Given the description of an element on the screen output the (x, y) to click on. 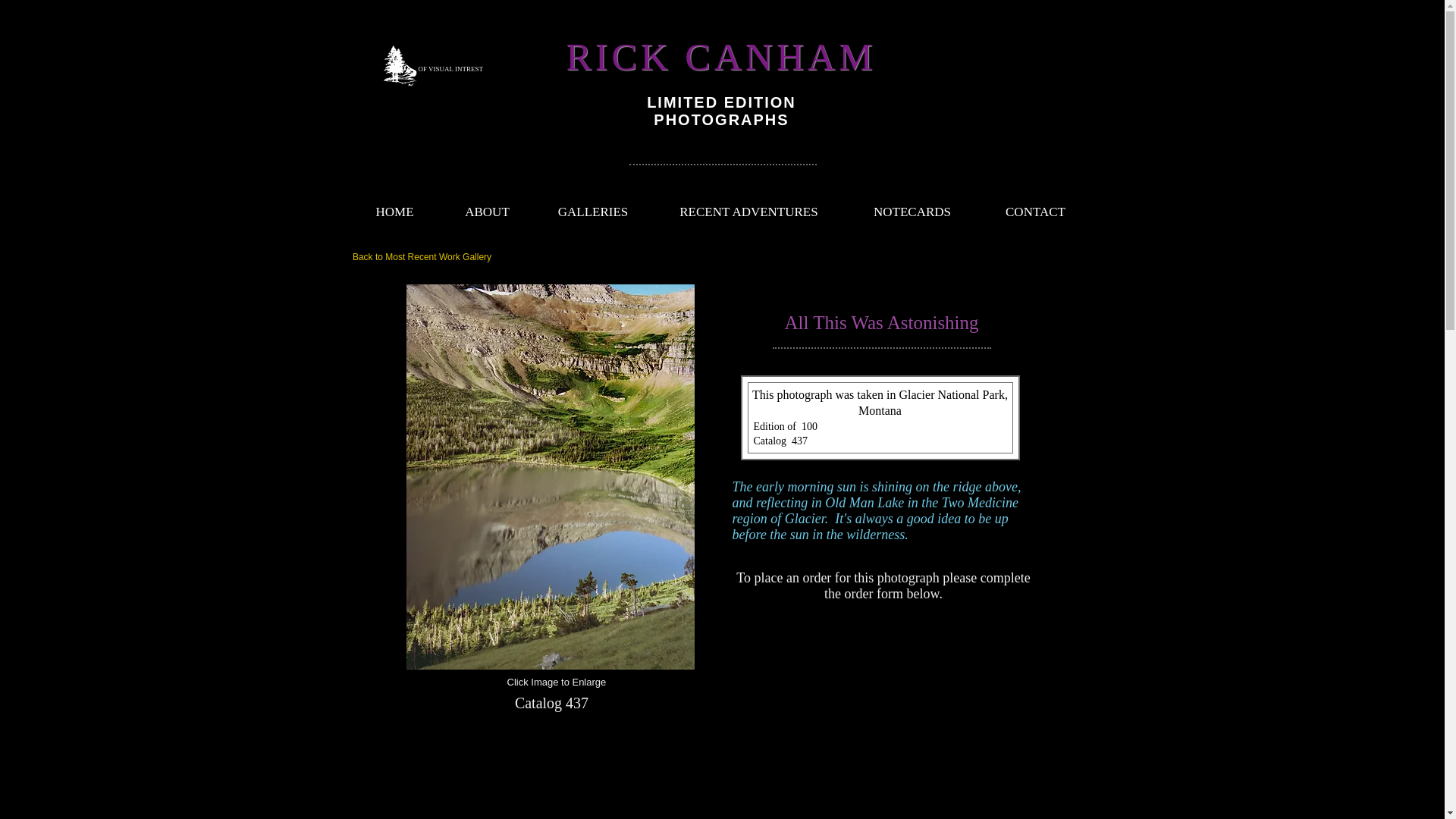
GALLERIES (592, 211)
NOTECARDS (910, 211)
ABOUT (487, 211)
Site Search (1008, 140)
RECENT ADVENTURES (747, 211)
CONTACT (1035, 211)
HOME (394, 211)
